Given the description of an element on the screen output the (x, y) to click on. 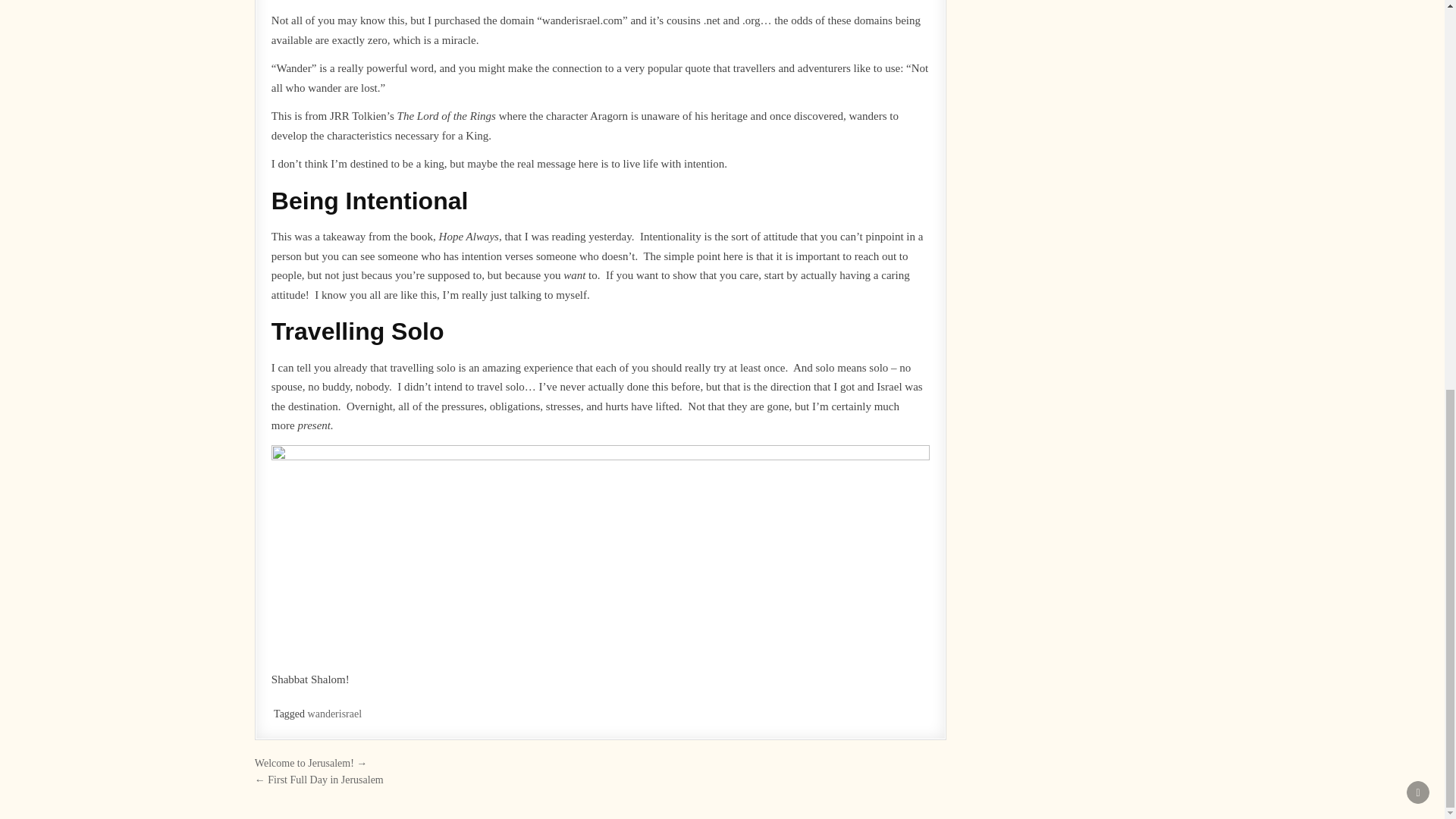
Scroll to Top (1417, 50)
wanderisrael (334, 713)
SCROLL TO TOP (1417, 50)
SCROLL TO TOP (1417, 50)
